Given the description of an element on the screen output the (x, y) to click on. 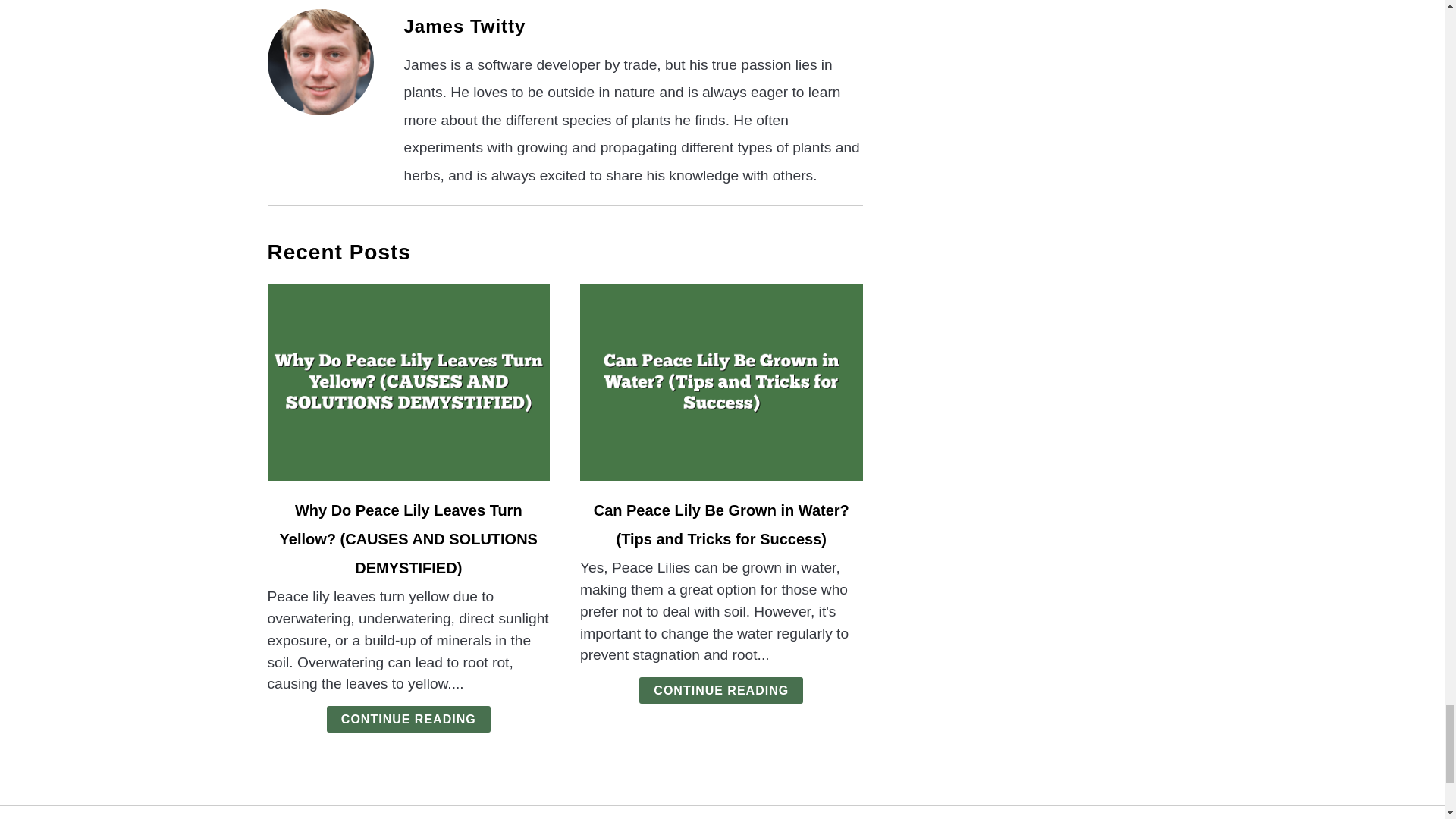
CONTINUE READING (408, 718)
James Twitty (464, 25)
CONTINUE READING (721, 690)
